Given the description of an element on the screen output the (x, y) to click on. 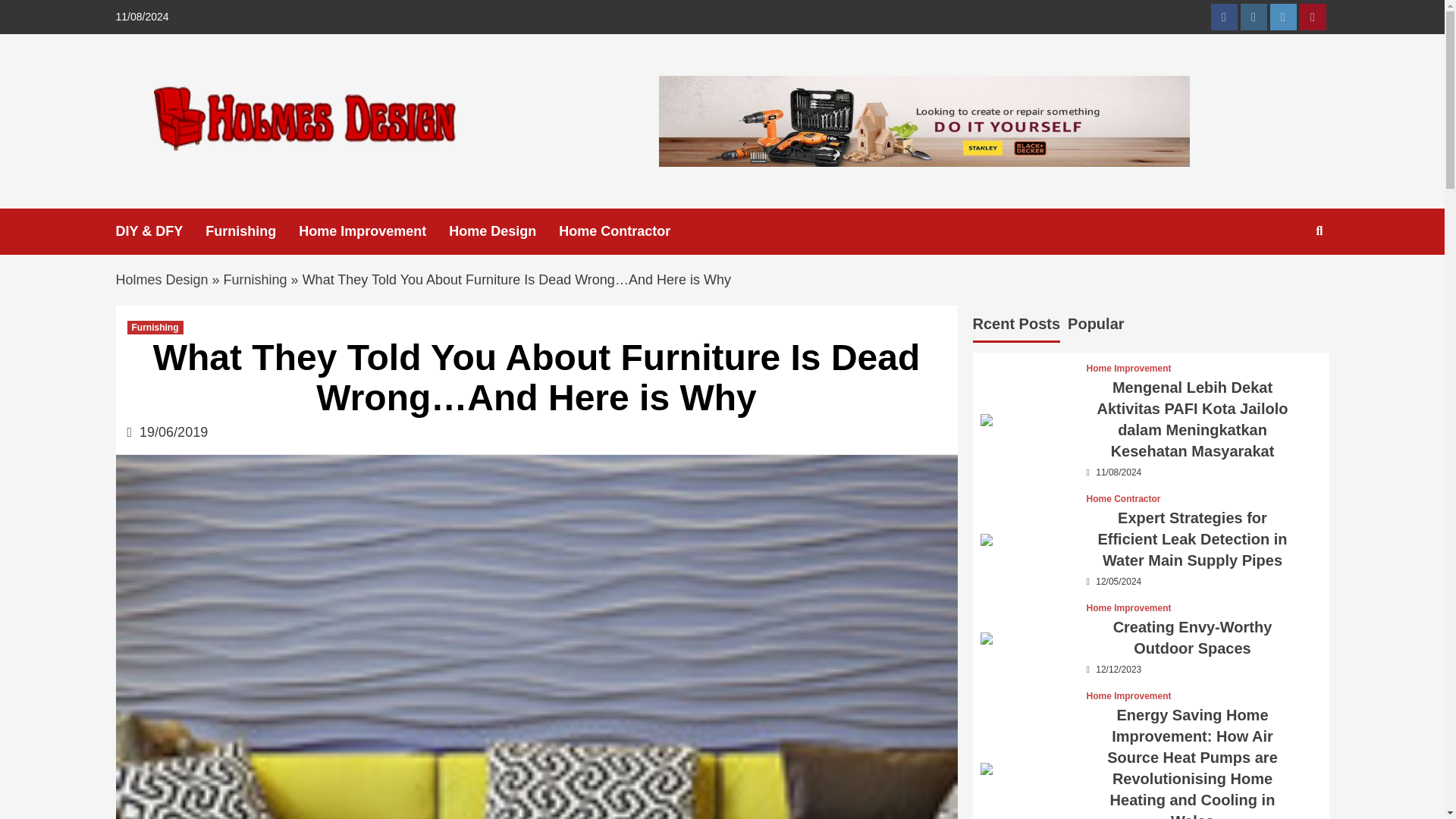
Popular (1095, 326)
Home Improvement (373, 231)
Home Improvement (1128, 368)
Home Design (503, 231)
Furnishing (155, 327)
Pinterest (1313, 17)
Furnishing (255, 279)
Furnishing (251, 231)
Search (1283, 310)
